Given the description of an element on the screen output the (x, y) to click on. 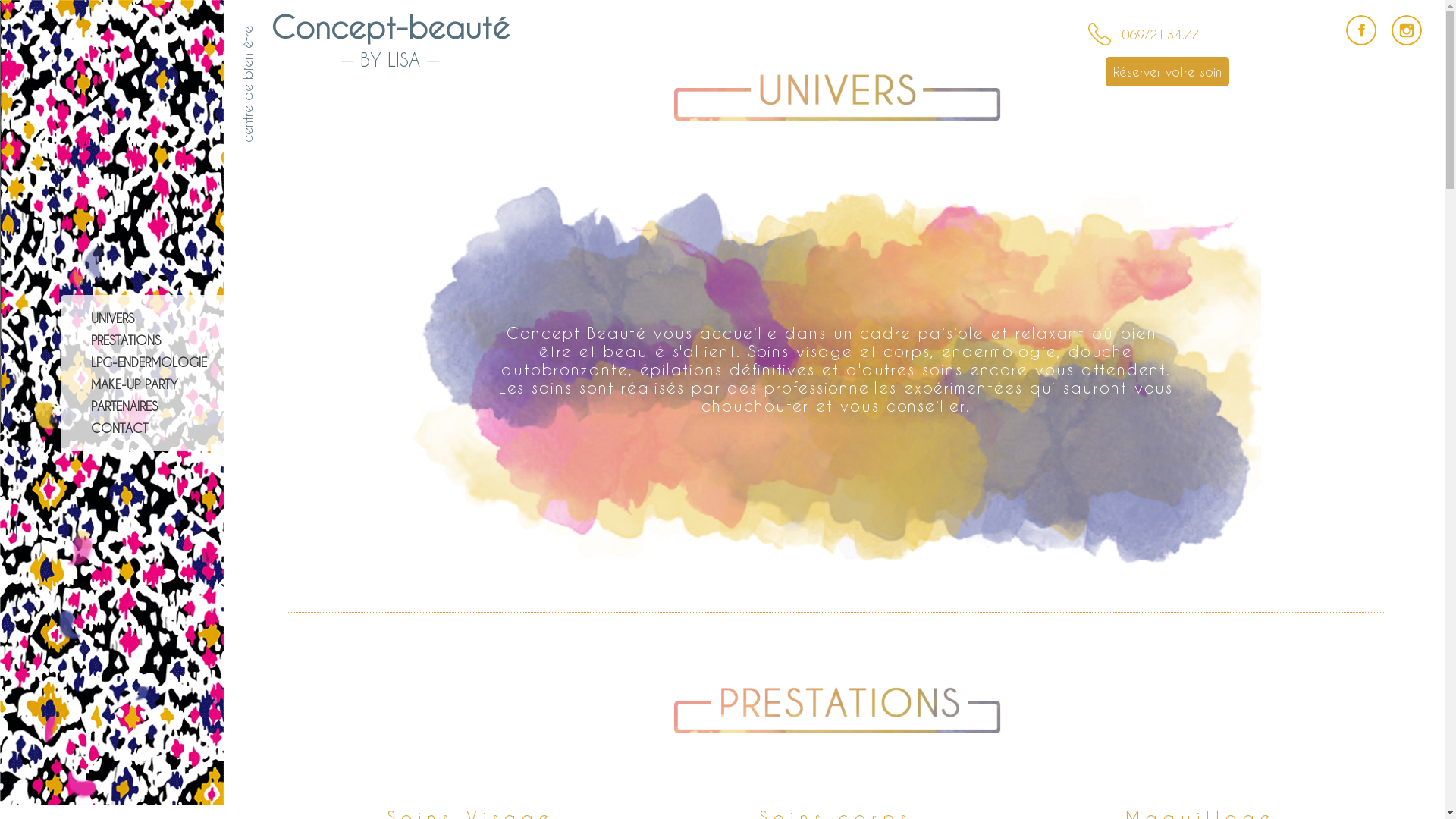
MAKE-UP PARTY Element type: text (134, 383)
LPG-ENDERMOLOGIE Element type: text (149, 361)
069/21.34.77 Element type: text (1160, 34)
UNIVERS Element type: text (112, 317)
PARTENAIRES Element type: text (124, 405)
PRESTATIONS Element type: text (125, 339)
CONTACT Element type: text (119, 427)
